Given the description of an element on the screen output the (x, y) to click on. 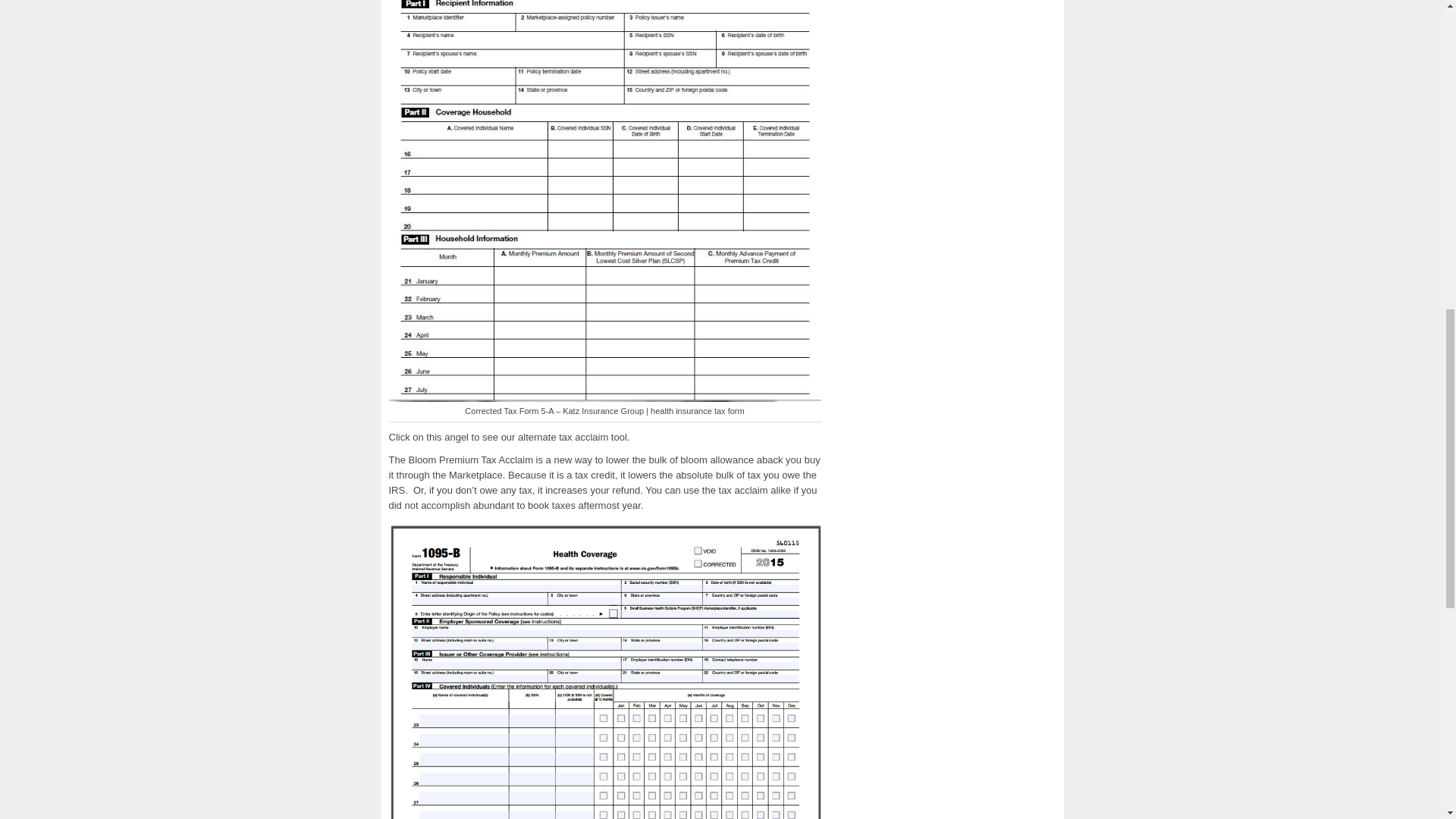
health insurance tax form (604, 671)
